Given the description of an element on the screen output the (x, y) to click on. 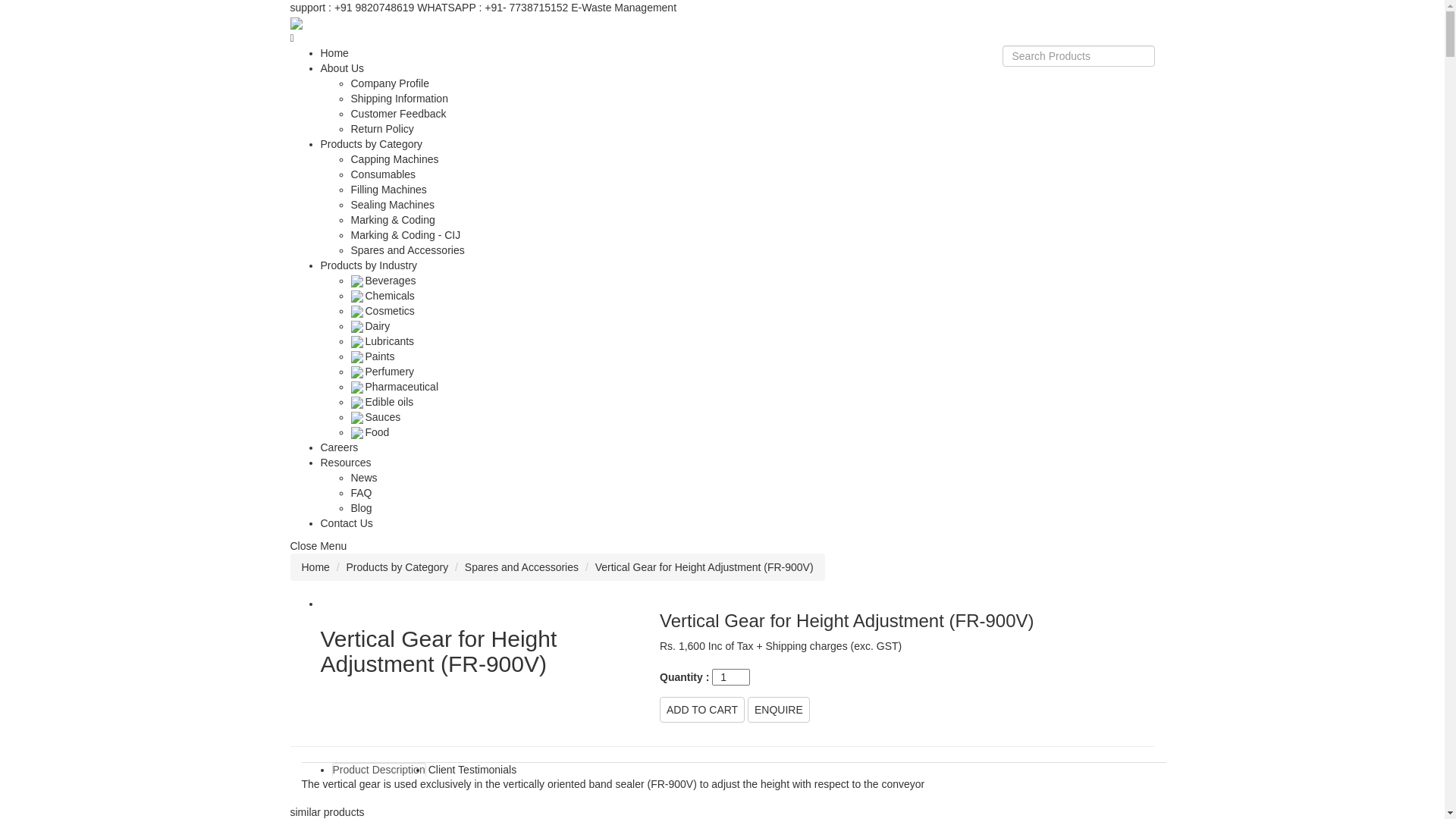
Pharmaceutical Element type: text (394, 386)
+91- 7738715152 Element type: text (525, 7)
Edible oils Element type: text (381, 401)
Cosmetics Element type: text (382, 310)
Return Policy Element type: text (381, 128)
Close Menu Element type: text (317, 545)
News Element type: text (363, 477)
Spares and Accessories Element type: text (407, 250)
Food Element type: text (369, 432)
Chemicals Element type: text (382, 295)
ENQUIRE Element type: text (778, 709)
Home Element type: text (334, 53)
FAQ Element type: text (360, 492)
Home Element type: text (315, 567)
Capping Machines Element type: text (394, 159)
Resources Element type: text (345, 462)
Paints Element type: text (372, 356)
Shipping charges (exc. GST) Element type: text (833, 646)
Marking & Coding - CIJ Element type: text (405, 235)
Company Profile Element type: text (389, 83)
ADD TO CART Element type: text (701, 709)
Marking & Coding Element type: text (392, 219)
Perfumery Element type: text (382, 371)
About Us Element type: text (342, 68)
Products by Industry Element type: text (368, 265)
Customer Feedback Element type: text (397, 113)
Products by Category Element type: text (371, 144)
Shipping Information Element type: text (398, 98)
Sauces Element type: text (375, 417)
Spares and Accessories Element type: text (521, 567)
Blog Element type: text (360, 508)
Dairy Element type: text (369, 326)
Contact Us Element type: text (346, 523)
Client Testimonials Element type: text (472, 769)
Product Description Element type: text (379, 769)
Consumables Element type: text (382, 174)
Lubricants Element type: text (382, 341)
Beverages Element type: text (382, 280)
Careers Element type: text (338, 447)
Filling Machines Element type: text (388, 189)
Sealing Machines Element type: text (392, 204)
Vertical Gear for Height Adjustment (FR-900V) Element type: text (478, 665)
Products by Category Element type: text (397, 567)
E-Waste Management Element type: text (623, 7)
